Given the description of an element on the screen output the (x, y) to click on. 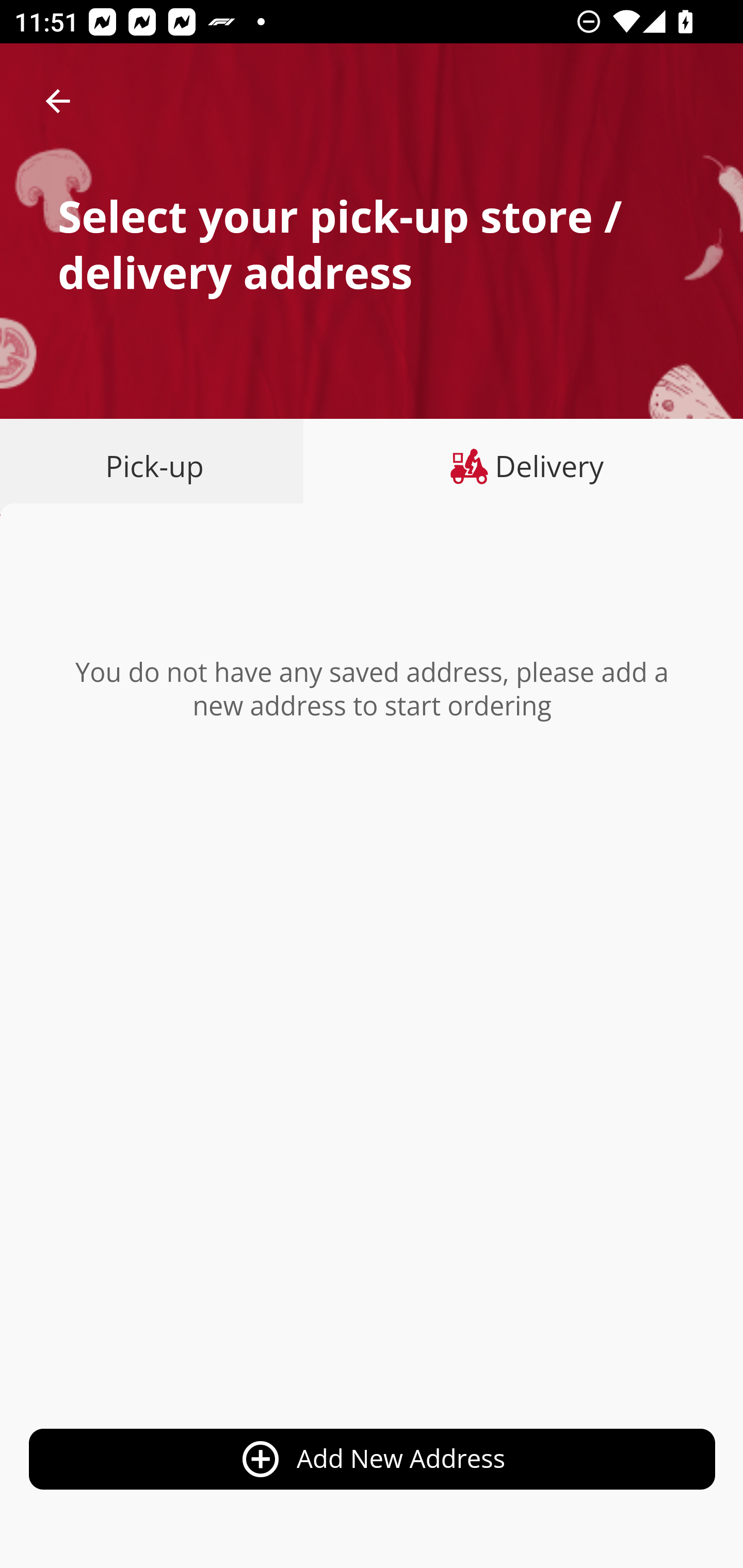
arrow_back (58, 100)
Pick-up (157, 466)
Delivery (523, 466)
add_circle_outline Add New Address (372, 1481)
add_circle_outline Add New Address (372, 1459)
